Given the description of an element on the screen output the (x, y) to click on. 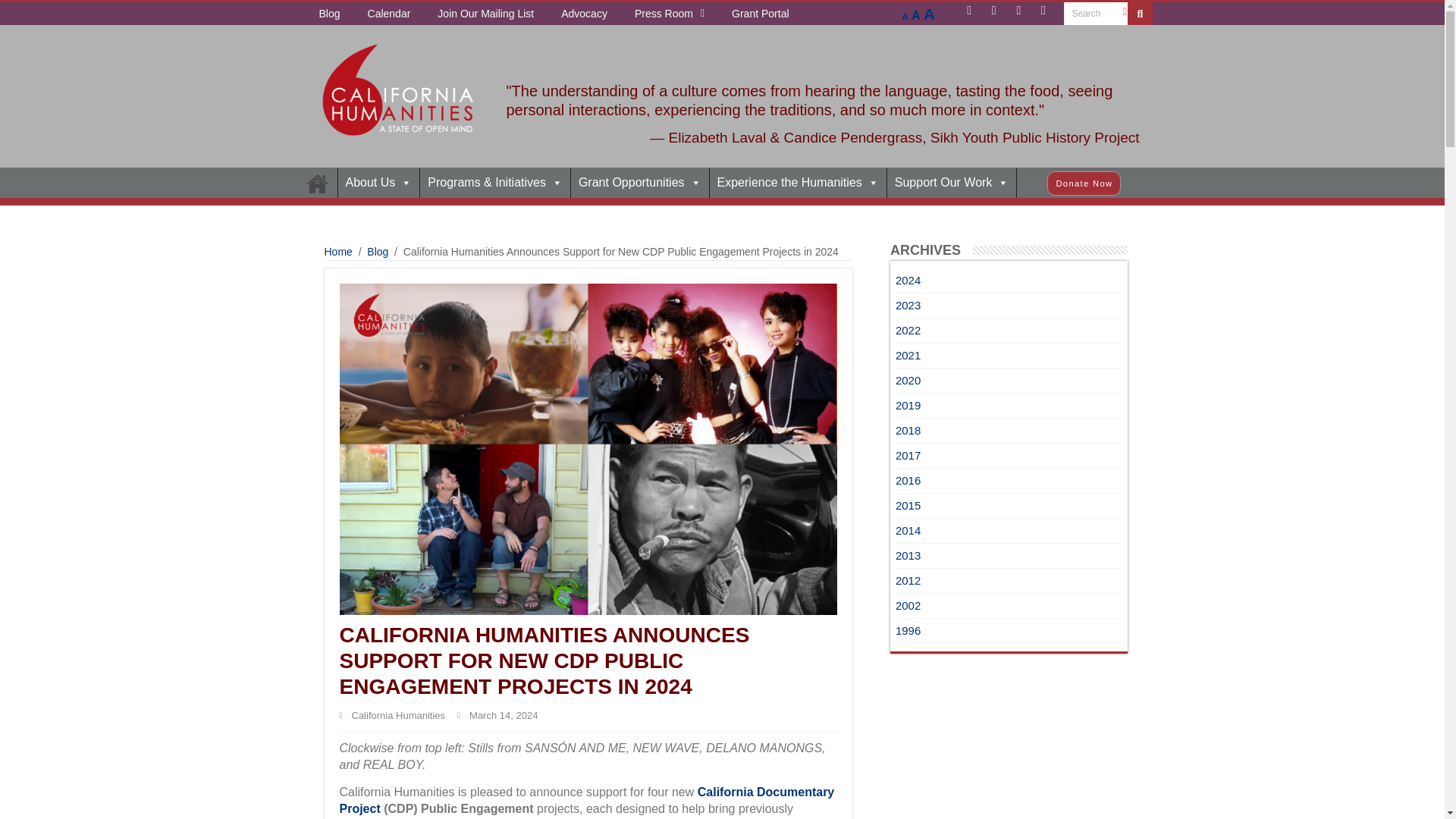
Grant Portal (759, 13)
Blog (328, 13)
Learn about Advocacy (584, 13)
View the Press Room (669, 13)
Join Our Mailing List (485, 13)
Sign up to Join Our Mailing List (485, 13)
Advocacy (584, 13)
Press Room (669, 13)
Calendar (389, 13)
Read our Blog (328, 13)
About Us (378, 182)
Go to the Grant Portal (759, 13)
Home (316, 182)
Upcoming Events (389, 13)
